Given the description of an element on the screen output the (x, y) to click on. 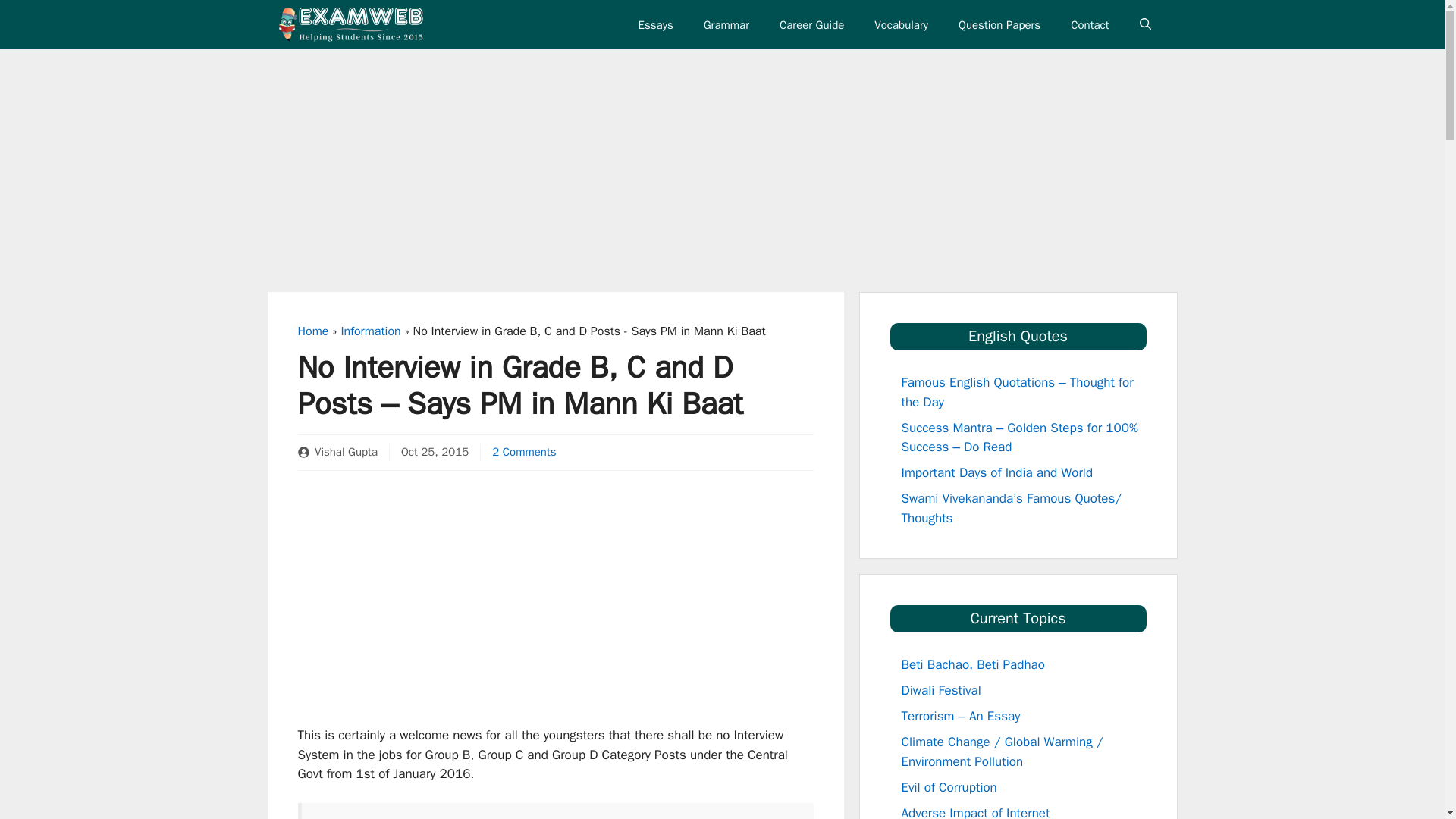
Career Guide (811, 23)
2 Comments (524, 451)
Adverse Impact of Internet (975, 812)
Contact (1089, 23)
ExamWeb.in (352, 24)
Information (370, 331)
Important Days of India and World (997, 472)
Essays (655, 23)
Beti Bachao, Beti Padhao (972, 664)
Home (313, 331)
